Given the description of an element on the screen output the (x, y) to click on. 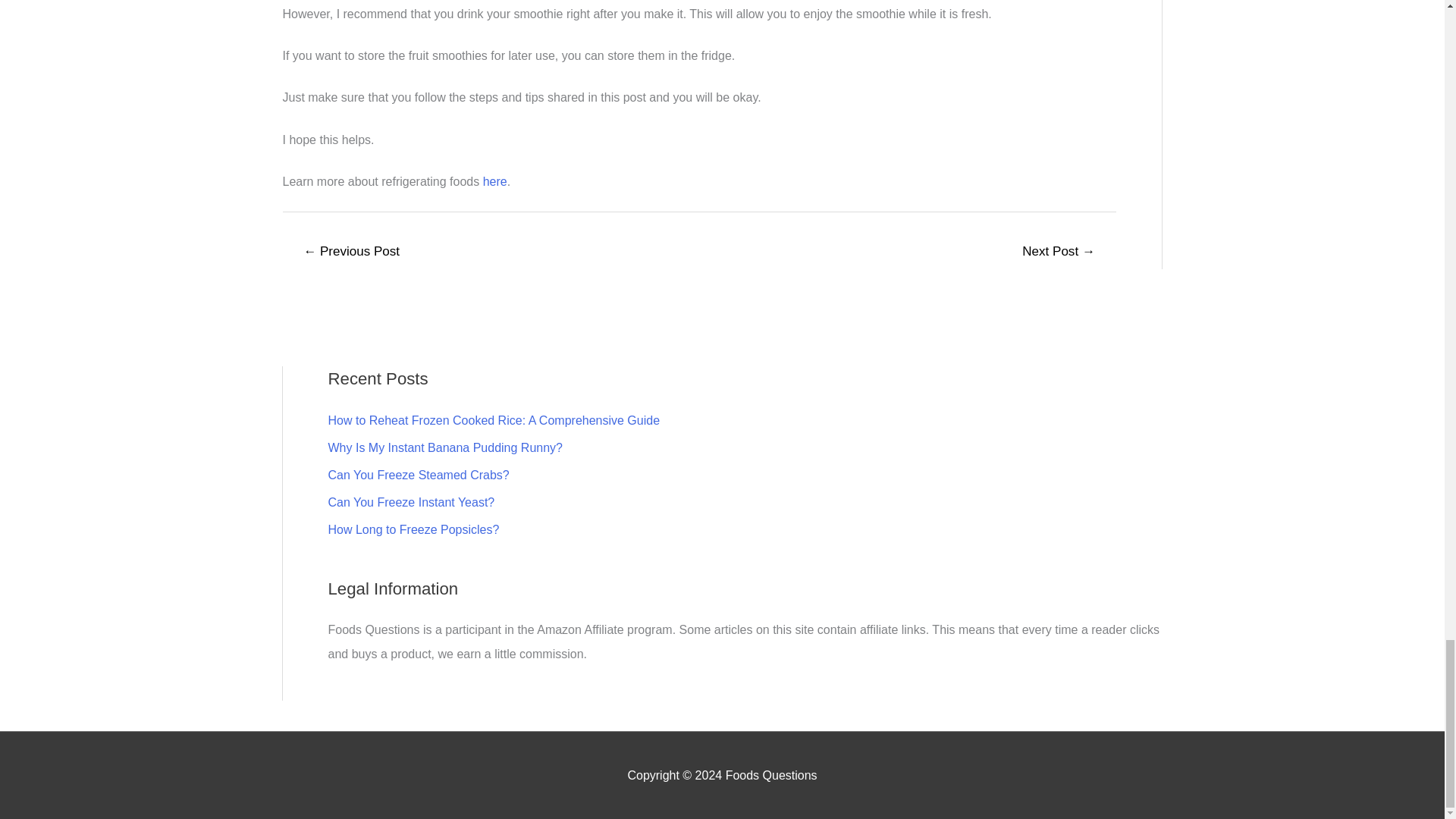
Can You Freeze Instant Yeast? (411, 502)
Can You Freeze Steamed Crabs? (417, 474)
How Long to Freeze Popsicles? (413, 529)
How to Reheat Frozen Cooked Rice: A Comprehensive Guide (493, 420)
here (494, 181)
Why Is My Instant Banana Pudding Runny? (444, 447)
